Given the description of an element on the screen output the (x, y) to click on. 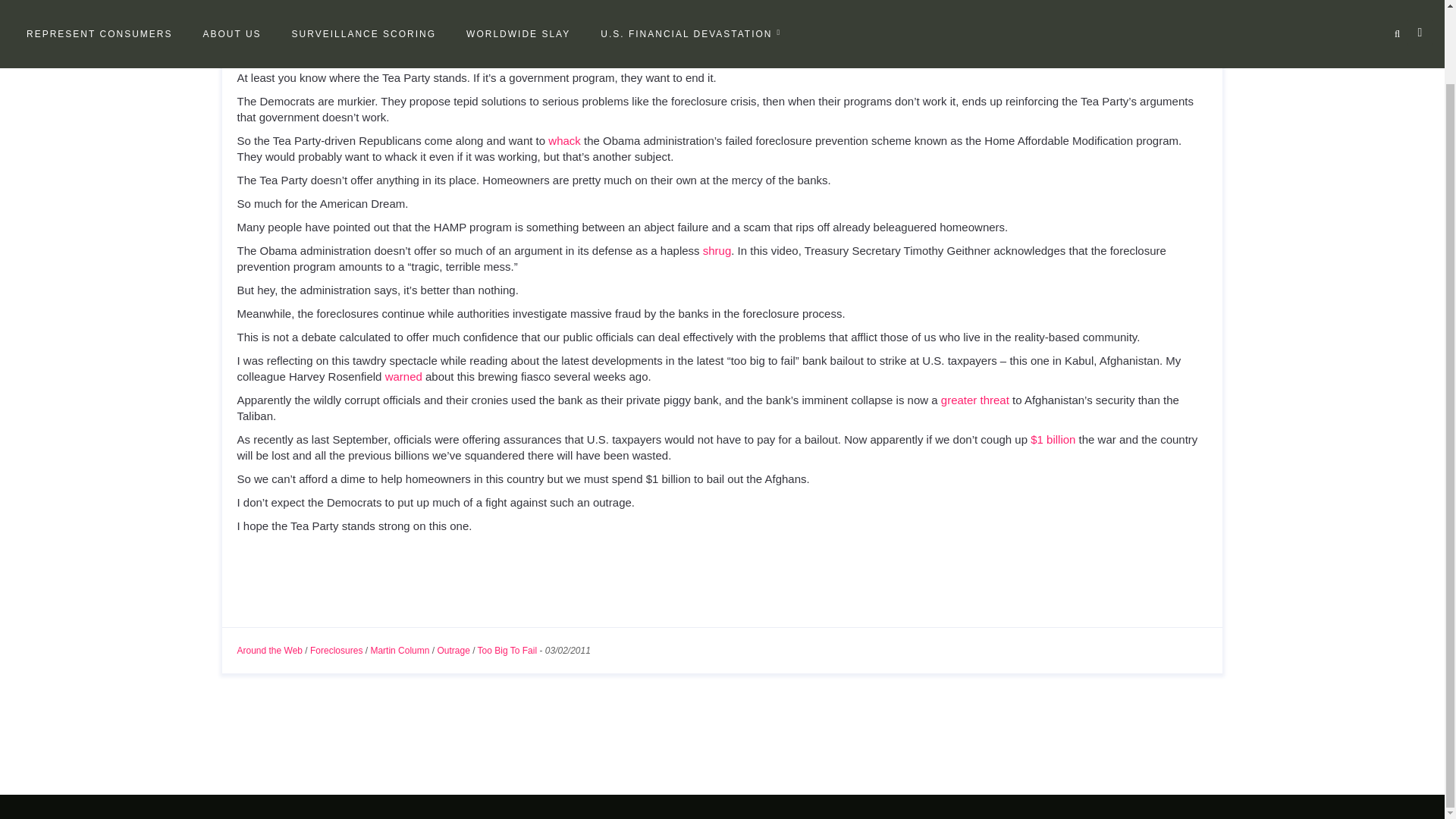
Will Afghan Bailout Trump U.S. Homeowners? (421, 45)
Outrage (452, 650)
whack (564, 140)
Too Big To Fail (507, 650)
shrug (717, 250)
warned (403, 376)
greater threat (974, 399)
Foreclosures (336, 650)
Around the Web (268, 650)
Martin Column (399, 650)
